Given the description of an element on the screen output the (x, y) to click on. 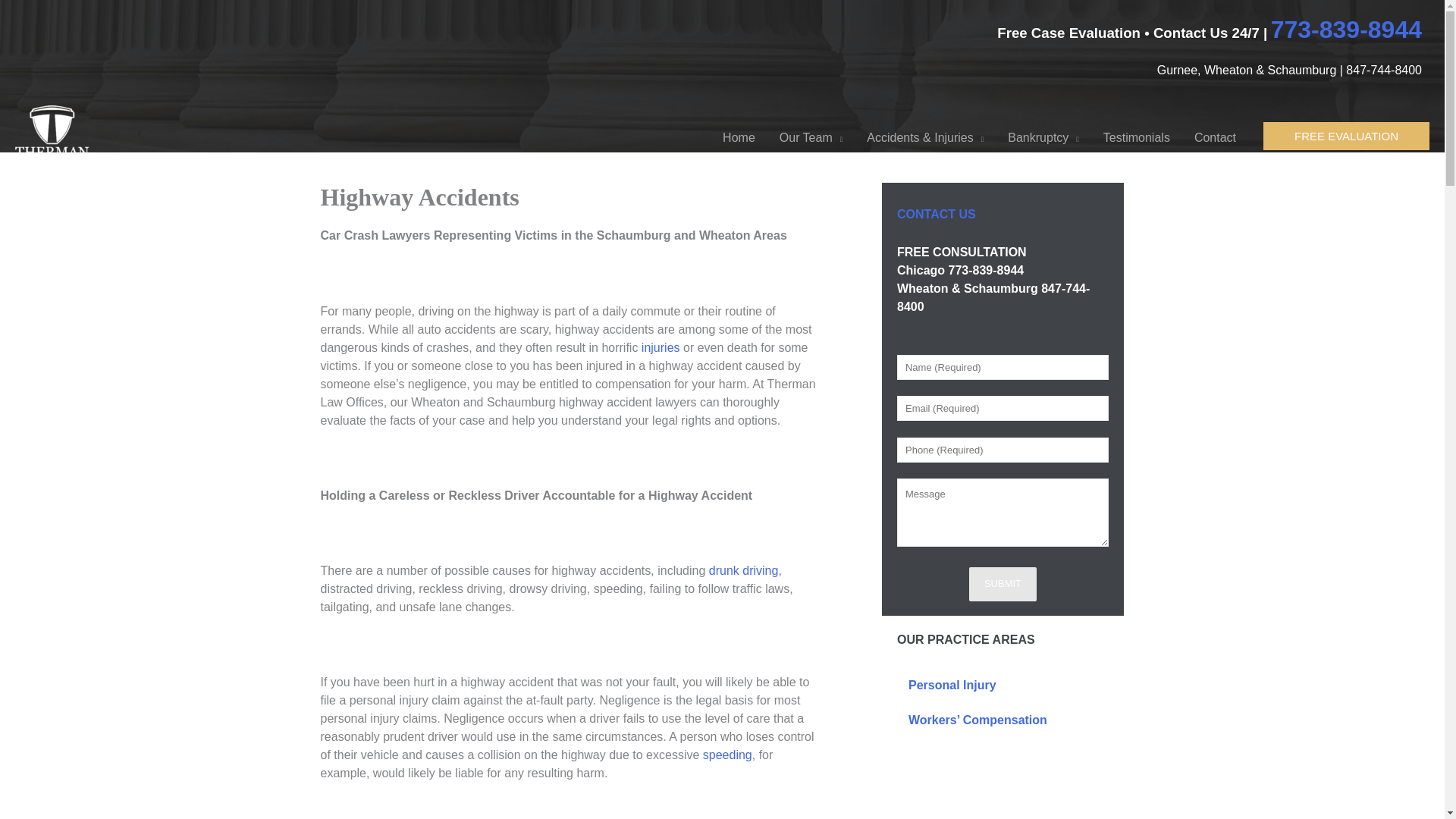
Submit (1002, 583)
Bankruptcy (1042, 137)
FREE EVALUATION (1346, 135)
Home (738, 137)
Our Team (810, 137)
Contact (1214, 137)
Testimonials (1136, 137)
773-839-8944 (1346, 29)
